Given the description of an element on the screen output the (x, y) to click on. 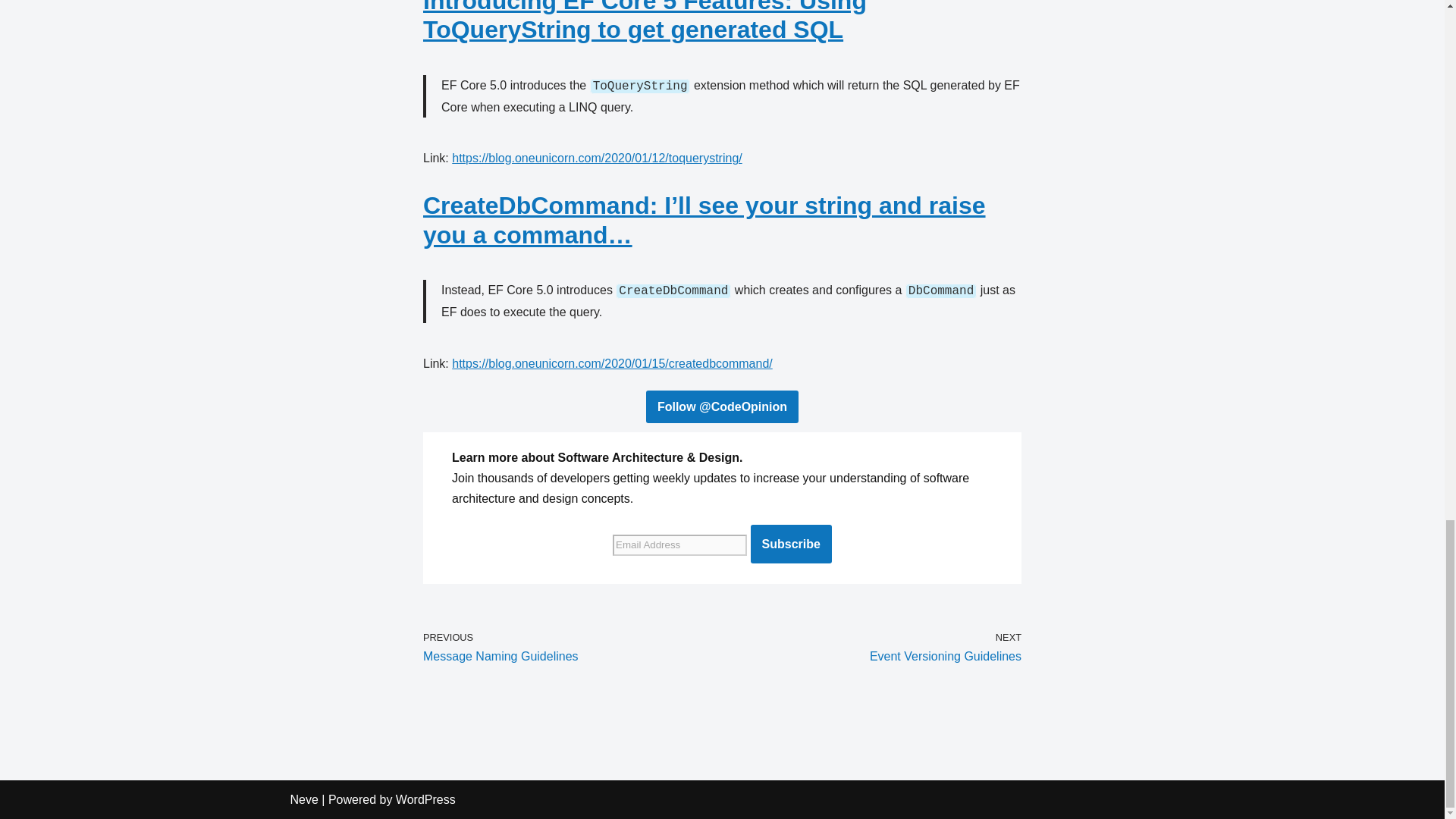
Subscribe (568, 647)
Subscribe (791, 544)
WordPress (791, 544)
Neve (425, 799)
